Given the description of an element on the screen output the (x, y) to click on. 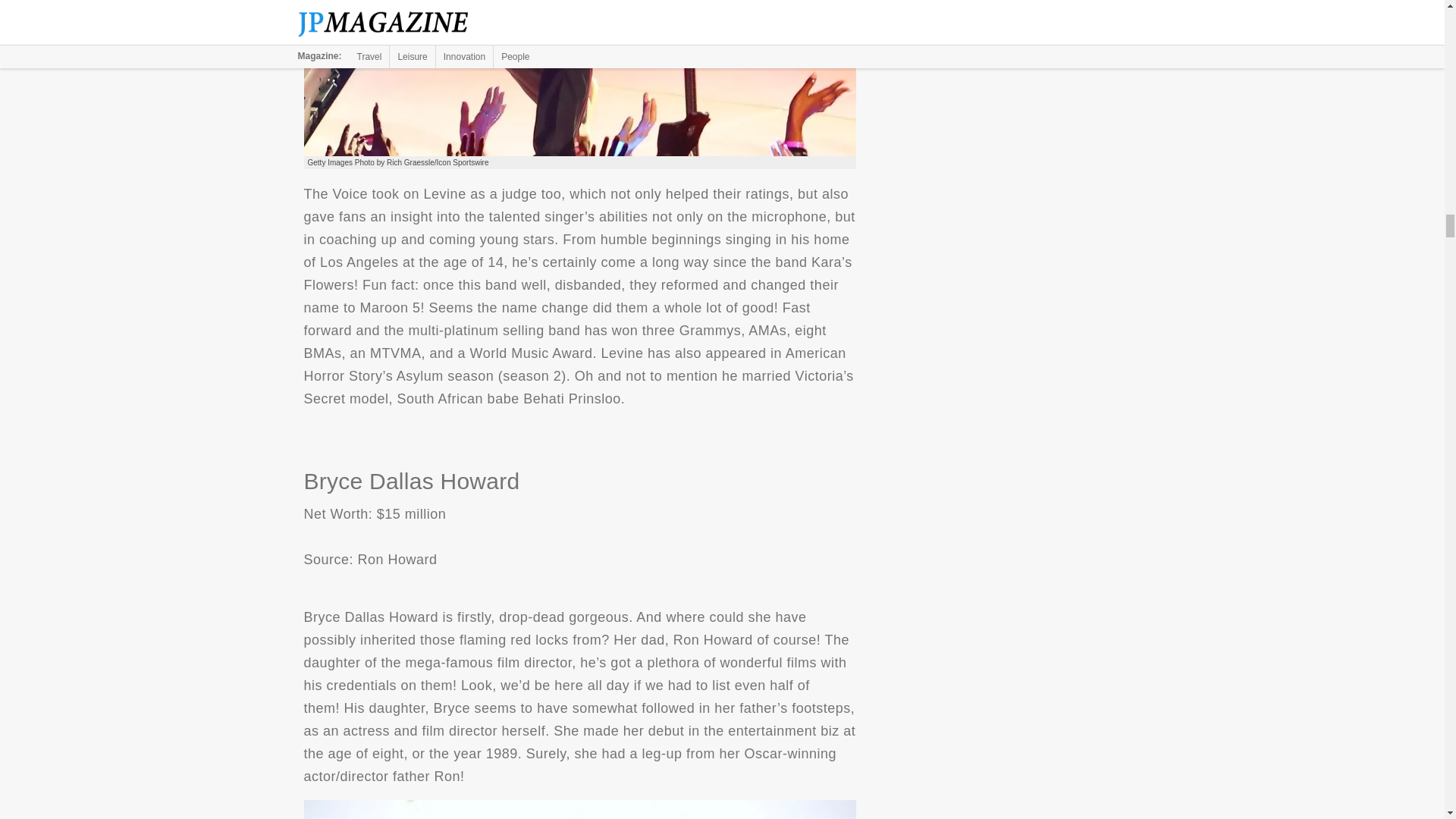
Bryce Dallas Howard (579, 809)
Adam Levine (579, 78)
